Given the description of an element on the screen output the (x, y) to click on. 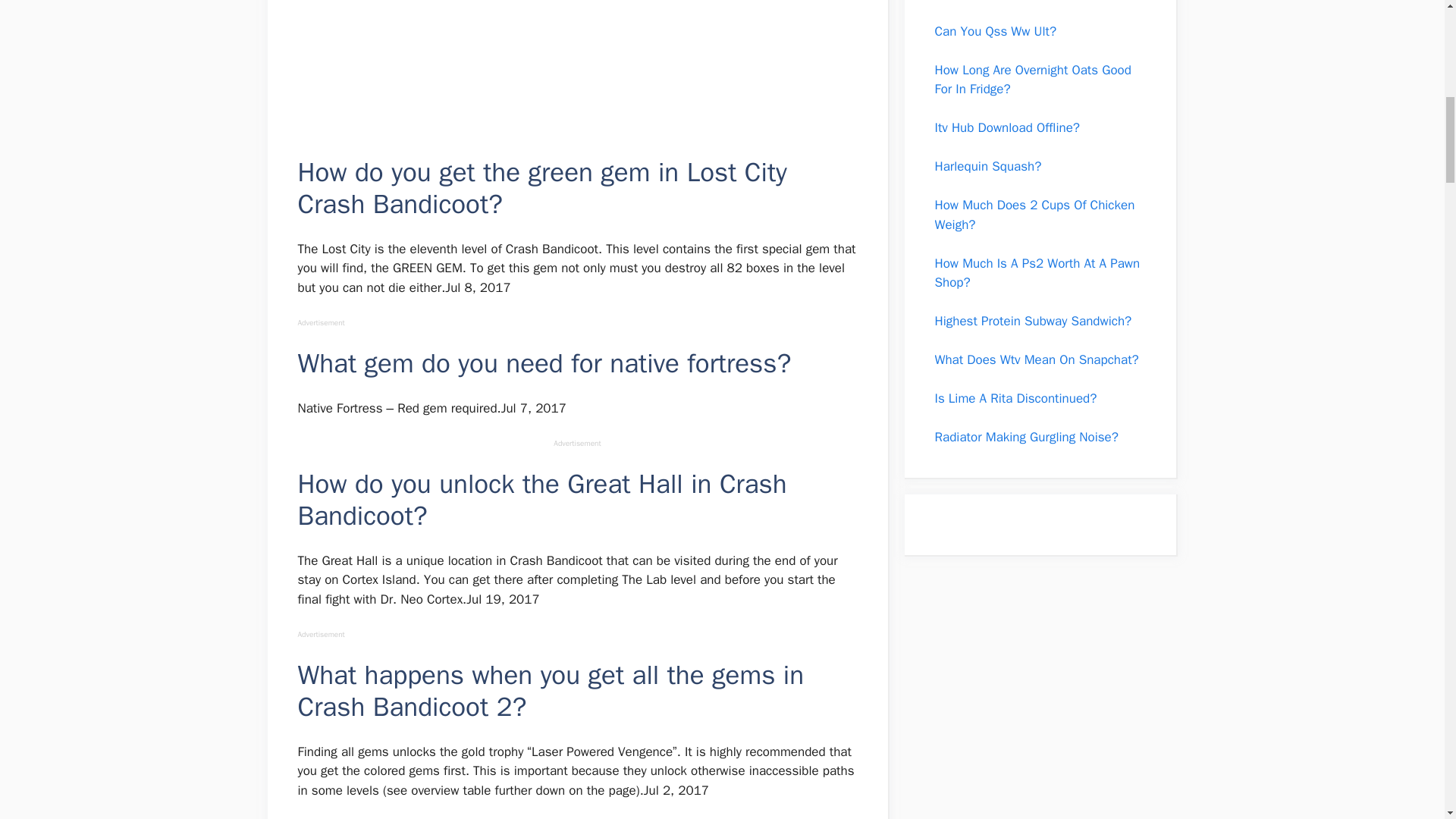
Advertisement (576, 75)
